Given the description of an element on the screen output the (x, y) to click on. 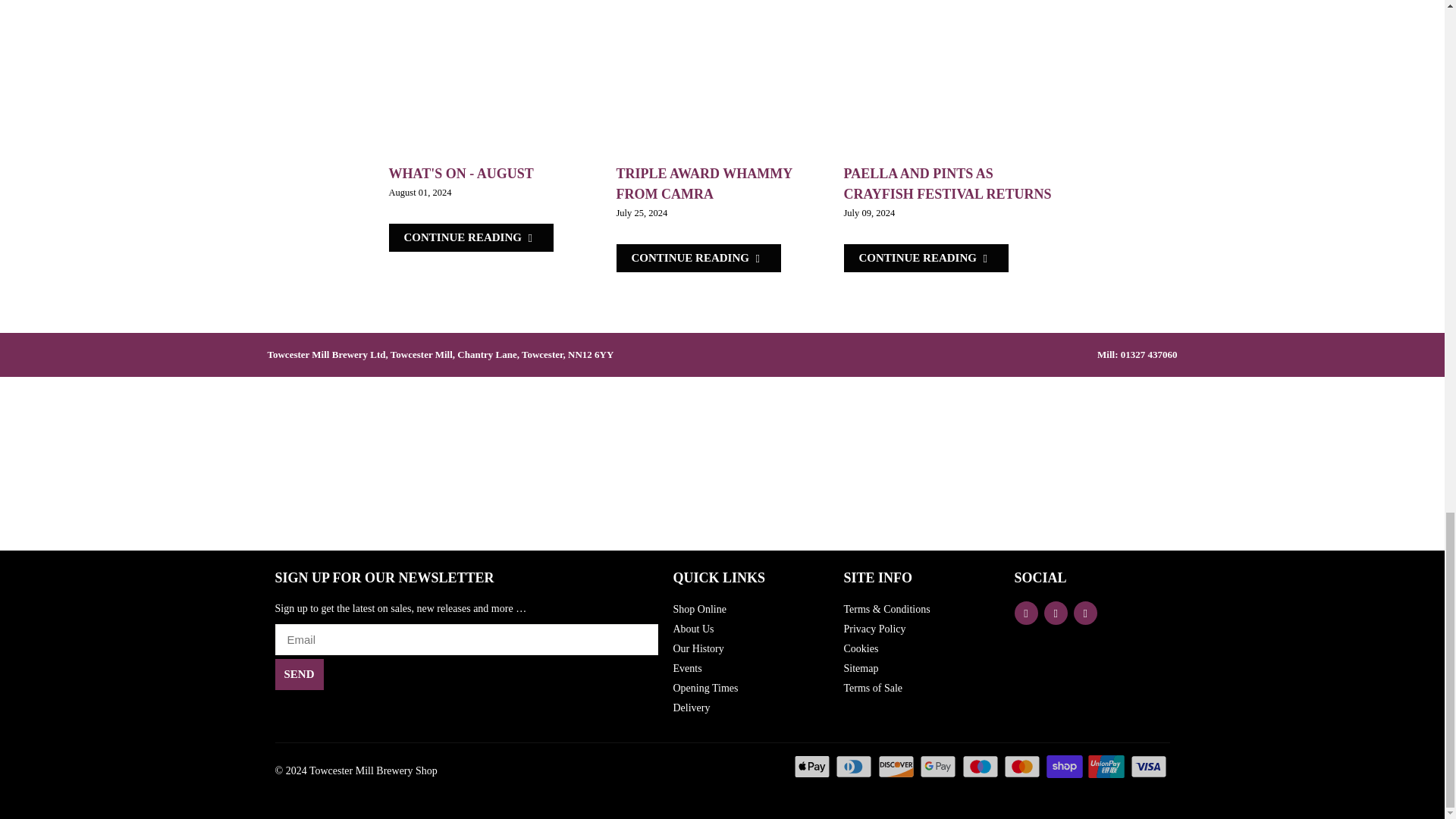
Triple award whammy from CAMRA (721, 81)
What's On - August (493, 81)
Triple award whammy from CAMRA (697, 257)
Send (299, 674)
What's On - August (470, 237)
Triple award whammy from CAMRA (703, 183)
Paella and pints as Crayfish Festival returns (947, 183)
Paella and pints as Crayfish Festival returns (949, 81)
What's On - August (460, 173)
Paella and pints as Crayfish Festival returns (925, 257)
